Given the description of an element on the screen output the (x, y) to click on. 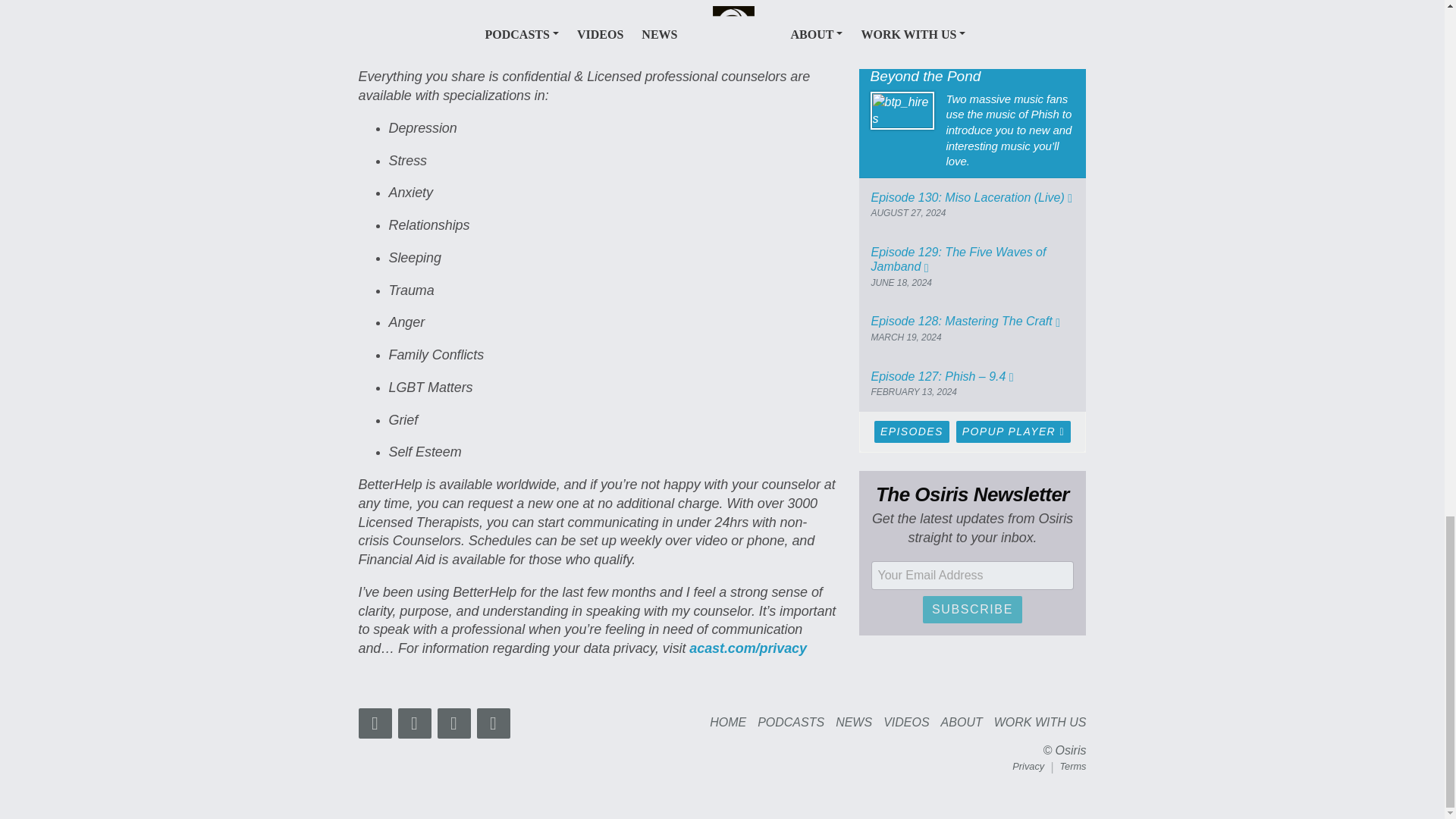
Twitter (374, 723)
Instagram (413, 723)
Facebook (453, 723)
YouTube (492, 723)
